Given the description of an element on the screen output the (x, y) to click on. 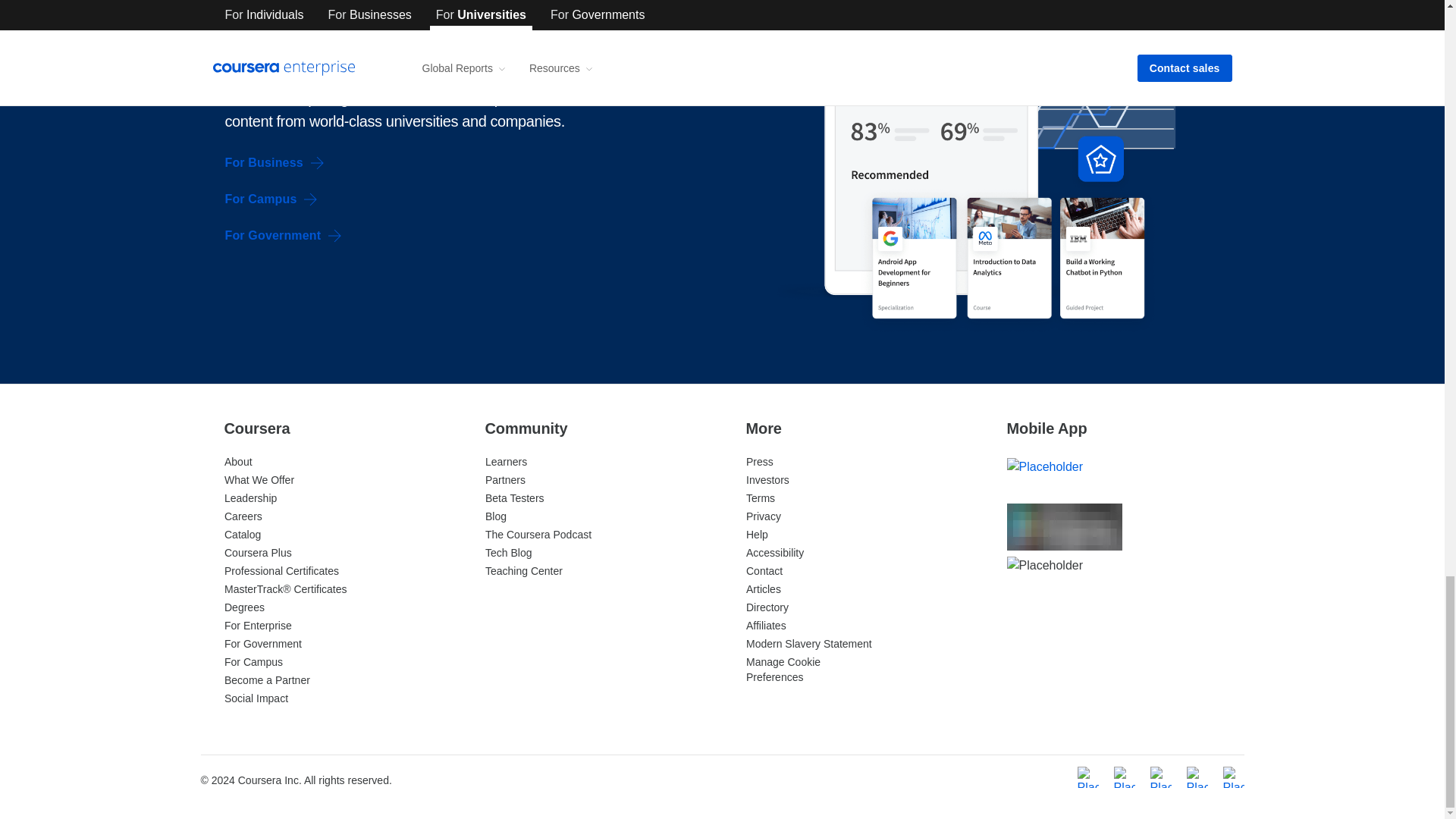
What We Offer (259, 480)
About (237, 461)
Social Impact (256, 698)
Coursera Plus (258, 552)
Professional Certificates (281, 571)
Blog (495, 516)
For Government (262, 644)
Become a Partner (267, 680)
For Business (274, 162)
Catalog (242, 534)
Degrees (244, 607)
The Coursera Podcast (537, 534)
Partners (504, 480)
For Government (282, 235)
For Campus (271, 198)
